Given the description of an element on the screen output the (x, y) to click on. 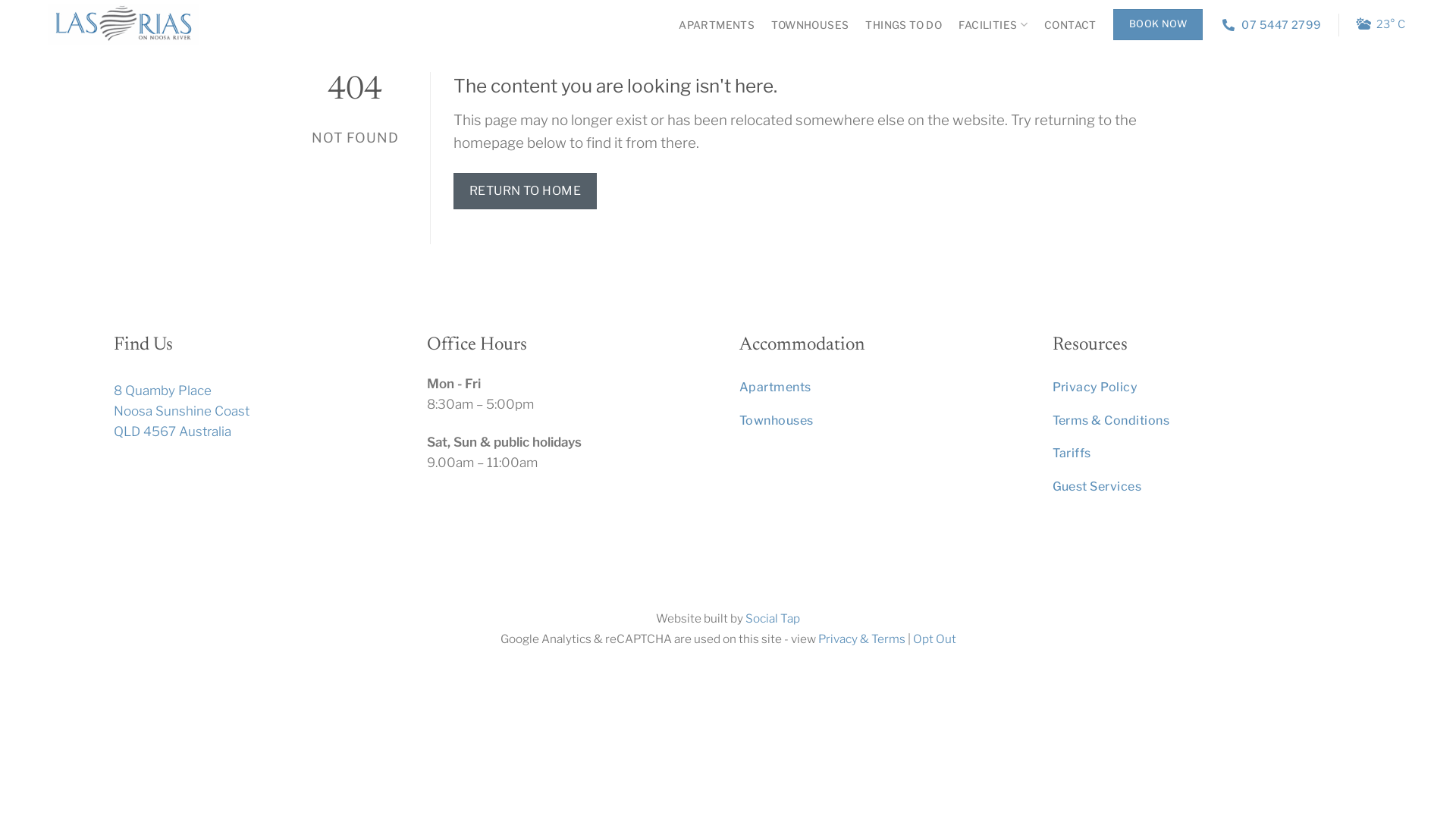
APARTMENTS Element type: text (716, 24)
8 Quamby Place
Noosa Sunshine Coast
QLD 4567 Australia Element type: text (181, 410)
RETURN TO HOME Element type: text (525, 190)
Privacy Policy Element type: text (1197, 387)
Guest Services Element type: text (1197, 486)
Apartments Element type: text (884, 387)
Tariffs Element type: text (1197, 453)
FACILITIES Element type: text (992, 24)
Skip to content Element type: text (0, 0)
TOWNHOUSES Element type: text (809, 24)
07 5447 2799 Element type: text (1271, 23)
Townhouses Element type: text (884, 420)
THINGS TO DO Element type: text (903, 24)
BOOK NOW Element type: text (1157, 24)
Las Rias Element type: hover (123, 24)
Social Tap Element type: text (772, 618)
Opt Out Element type: text (934, 638)
Terms & Conditions Element type: text (1197, 420)
Privacy & Terms Element type: text (860, 638)
CONTACT Element type: text (1070, 24)
